Given the description of an element on the screen output the (x, y) to click on. 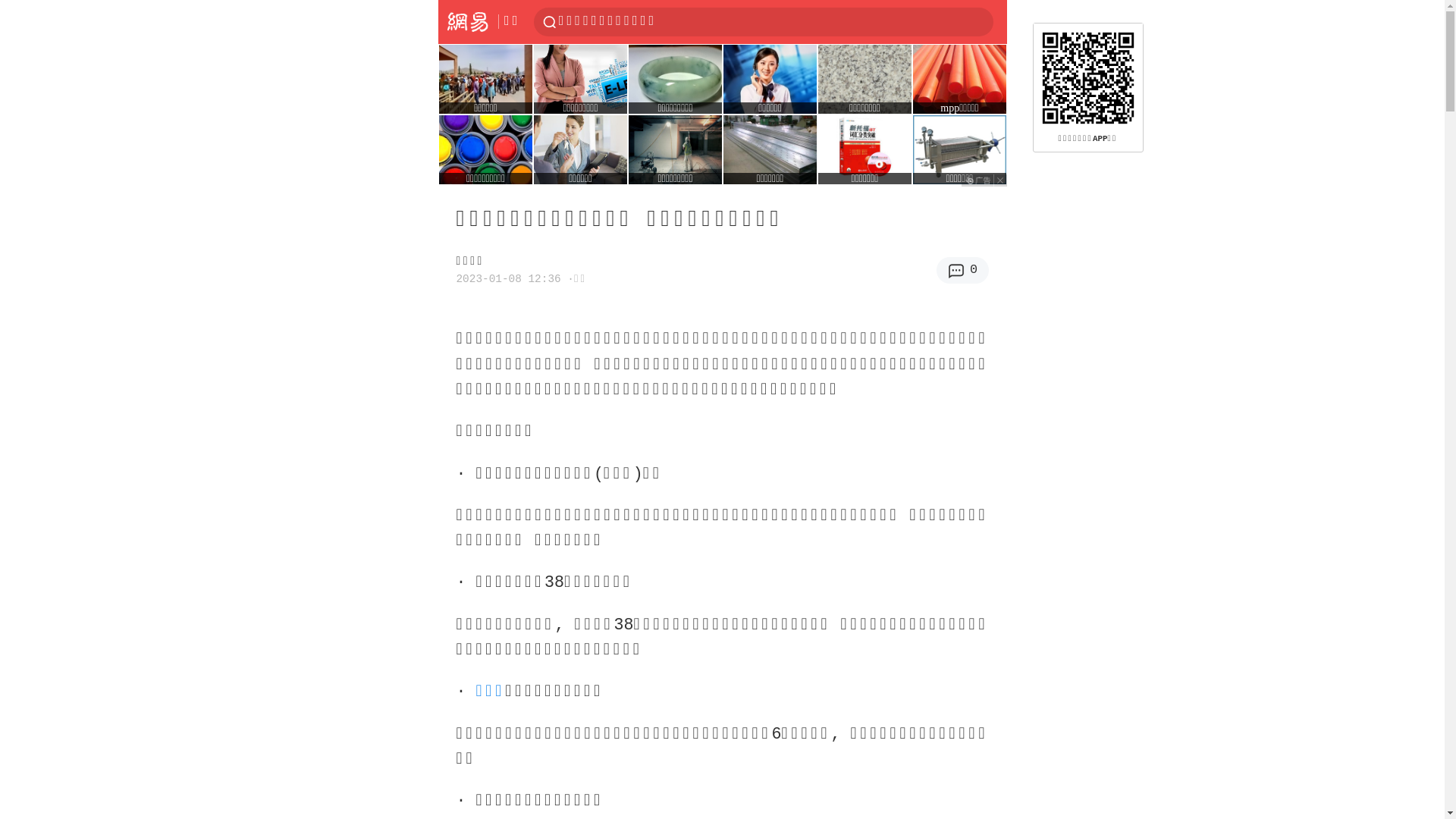
0 Element type: text (962, 270)
